Given the description of an element on the screen output the (x, y) to click on. 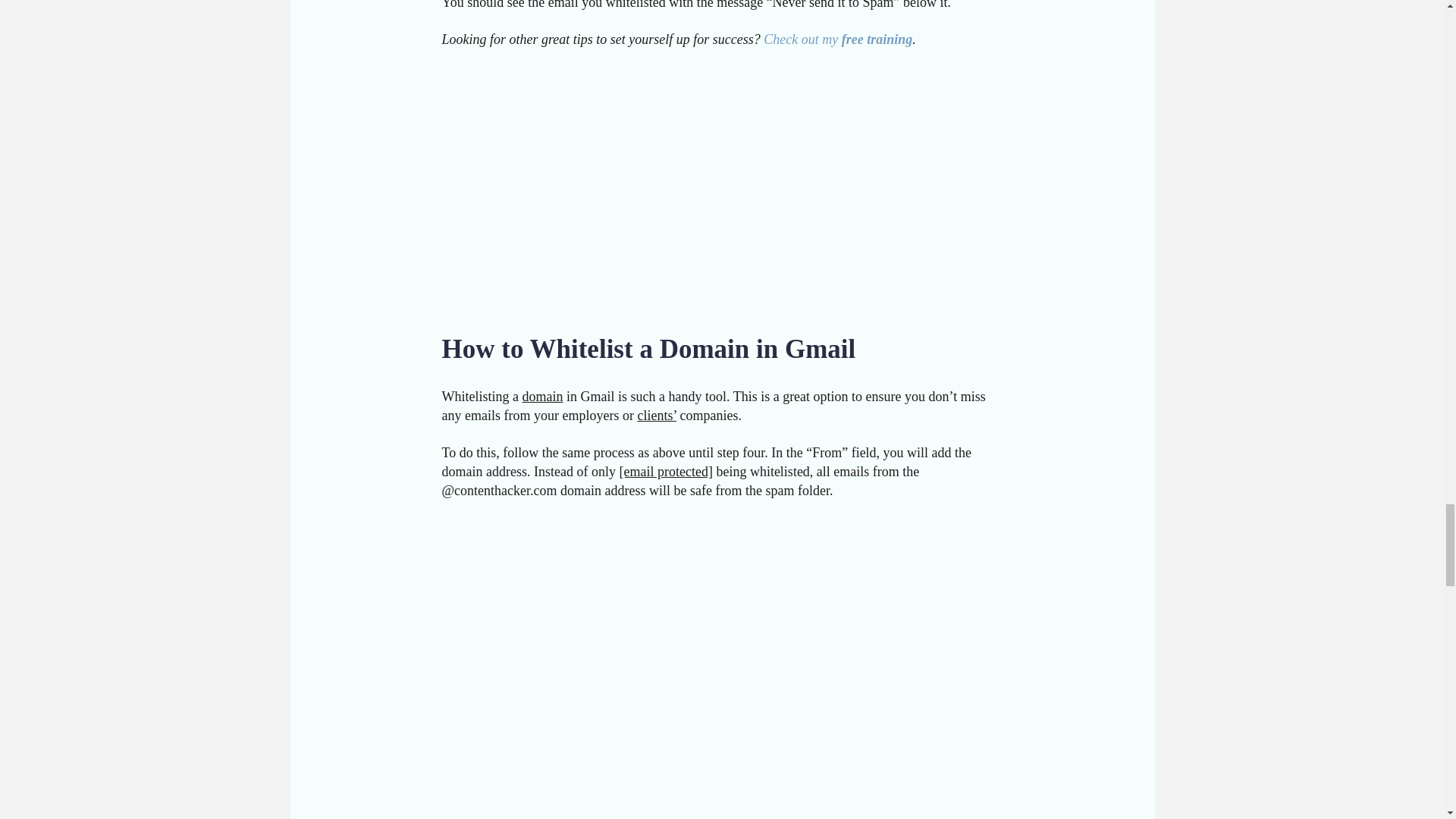
domain (541, 396)
Check out my free training (837, 38)
